Given the description of an element on the screen output the (x, y) to click on. 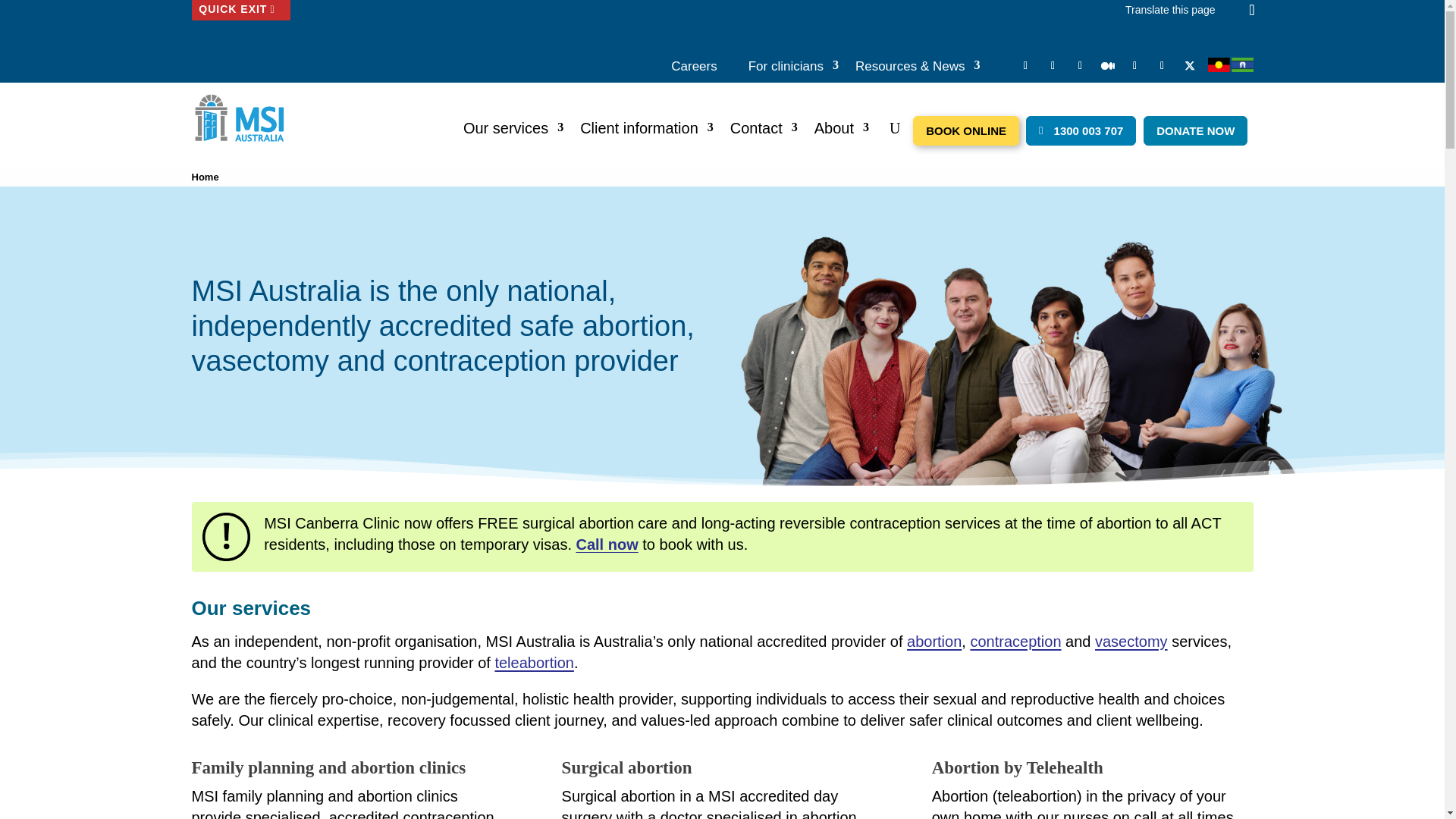
DONATE NOW Element type: text (1195, 130)
Follow on LinkedIn Element type: hover (1024, 65)
1300 003 707 Element type: text (1081, 130)
teleabortion Element type: text (534, 662)
Follow on Youtube Element type: hover (1079, 65)
Our services Element type: text (513, 131)
Follow on Vimeo Element type: hover (1052, 65)
Aboriginal-and-Torres-Strait-Islander-Flags Element type: hover (1229, 64)
contraception Element type: text (1014, 641)
Careers Element type: text (693, 69)
BOOK ONLINE Element type: text (966, 130)
abortion Element type: text (933, 641)
Resources & News Element type: text (917, 69)
About Element type: text (841, 131)
Follow on Instagram Element type: hover (1161, 65)
vasectomy Element type: text (1131, 641)
Contact Element type: text (763, 131)
Follow on Medium Element type: hover (1106, 65)
Call now Element type: text (607, 544)
alert-icon-black Element type: hover (225, 536)
MSI-Australia Element type: hover (238, 118)
For clinicians Element type: text (793, 69)
Home-image-1000px495px-nogradient Element type: hover (1021, 356)
Follow on Twitter Element type: hover (1188, 65)
Follow on Facebook Element type: hover (1134, 65)
Client information Element type: text (646, 131)
